Given the description of an element on the screen output the (x, y) to click on. 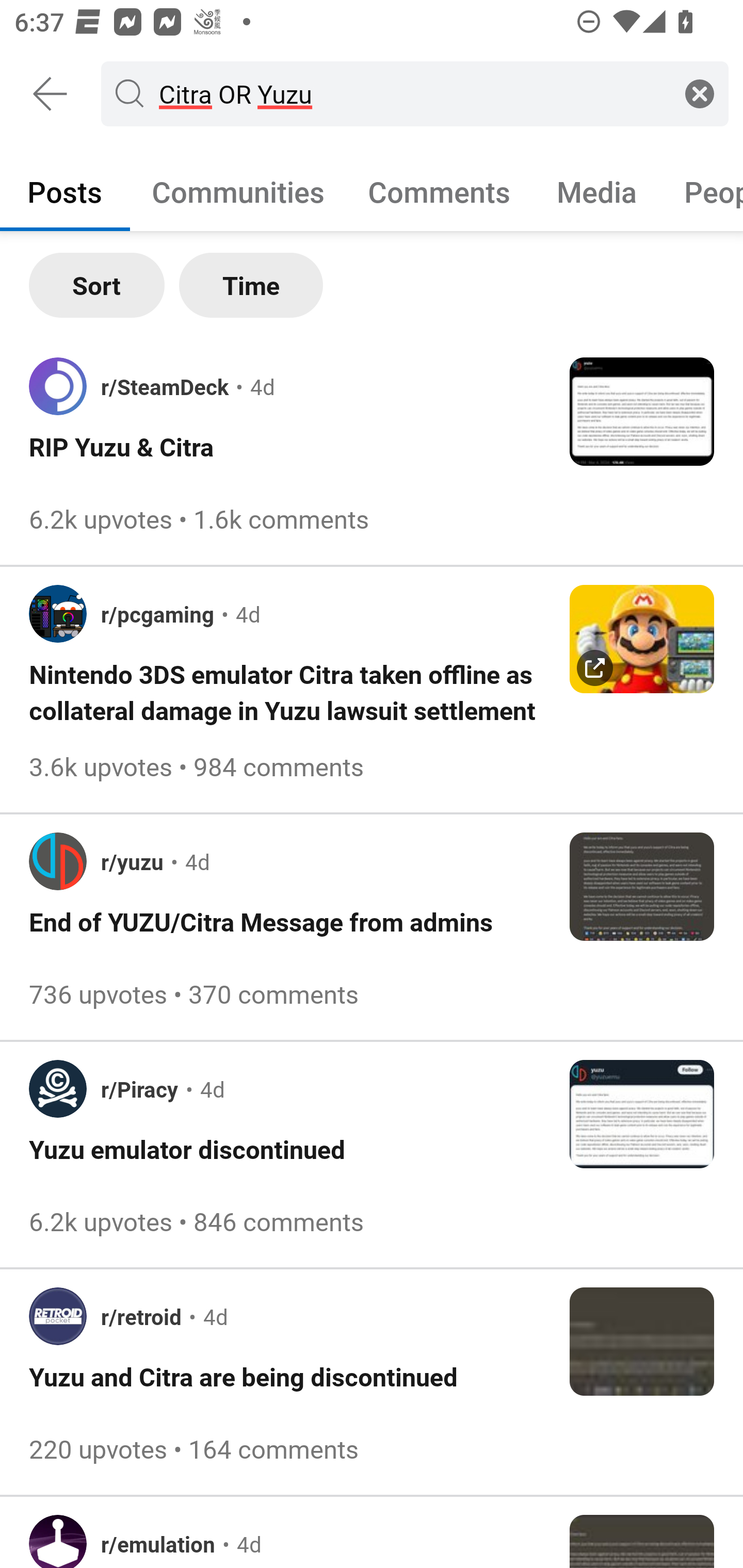
Back (50, 93)
Citra OR Yuzu (410, 93)
Clear search (699, 93)
Communities (238, 191)
Comments (438, 191)
Media (596, 191)
Sort Sort by Most relevant (96, 285)
Time Filter Time by All time (251, 285)
